Given the description of an element on the screen output the (x, y) to click on. 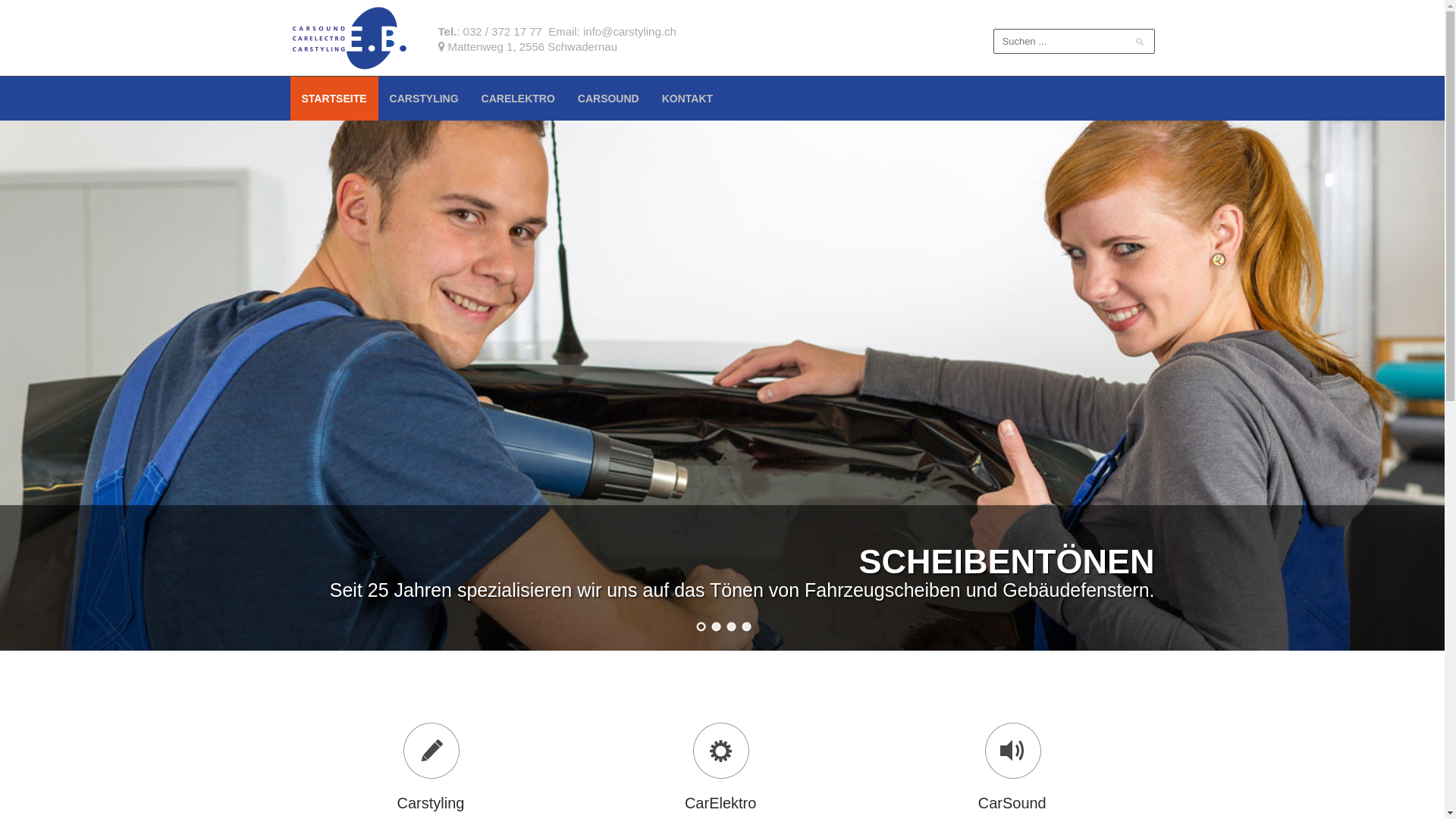
Zu Carsound Element type: hover (1012, 750)
STARTSEITE Element type: text (333, 98)
KONTAKT Element type: text (687, 98)
2 Element type: text (714, 626)
3 Element type: text (729, 626)
CARELEKTRO Element type: text (518, 98)
Zu Carstyling Element type: hover (431, 750)
Mattenweg 1, 2556 Schwadernau Element type: text (531, 45)
Carstyling Element type: hover (348, 35)
Zu Carelektro Element type: hover (720, 750)
1 Element type: text (699, 626)
4 Element type: text (744, 626)
CARSTYLING Element type: text (424, 98)
info@carstyling.ch Element type: text (629, 31)
CARSOUND Element type: text (608, 98)
